Given the description of an element on the screen output the (x, y) to click on. 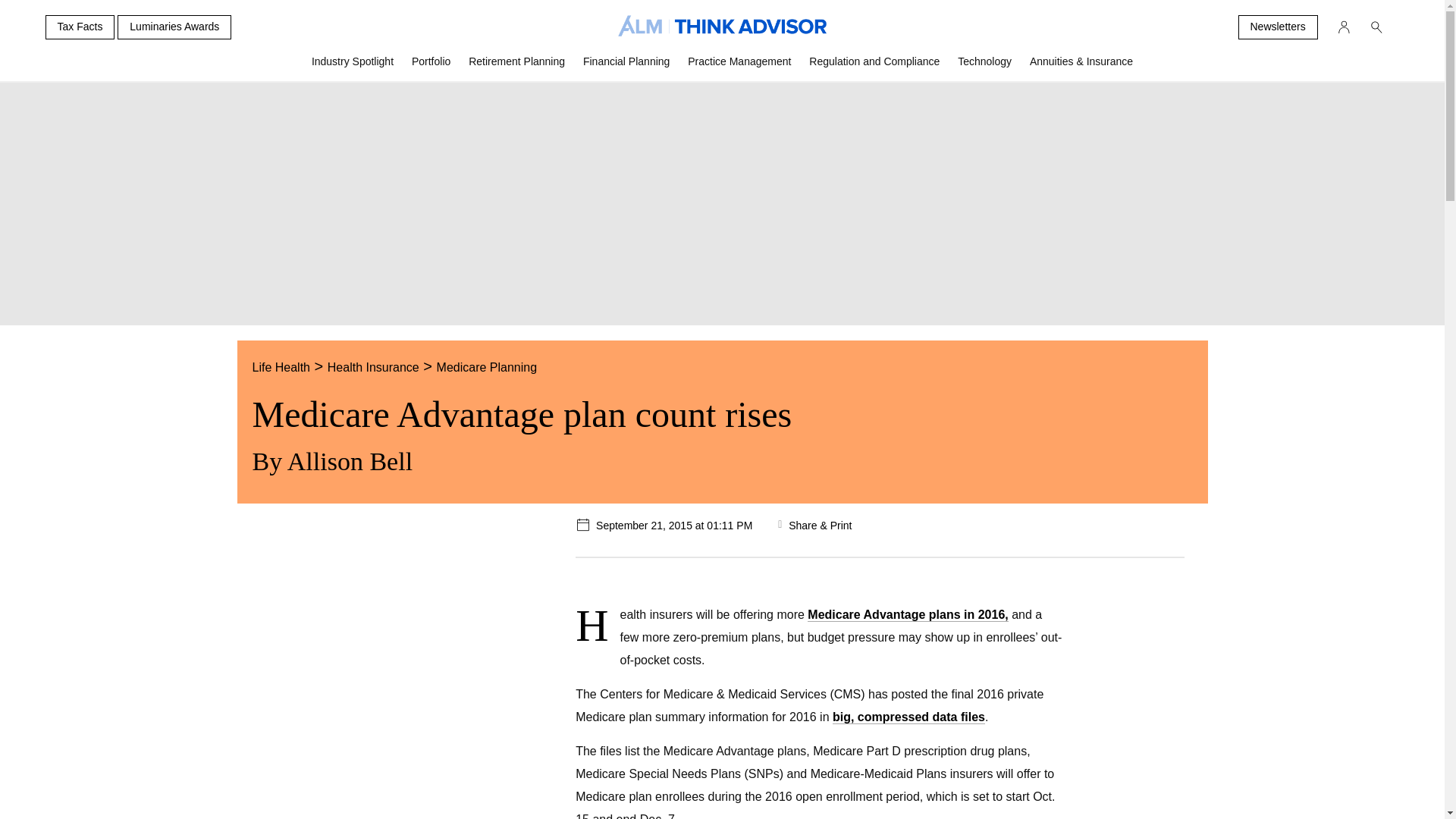
Tax Facts (80, 27)
Industry Spotlight (352, 67)
Luminaries Awards (174, 27)
Newsletters (1277, 27)
